Given the description of an element on the screen output the (x, y) to click on. 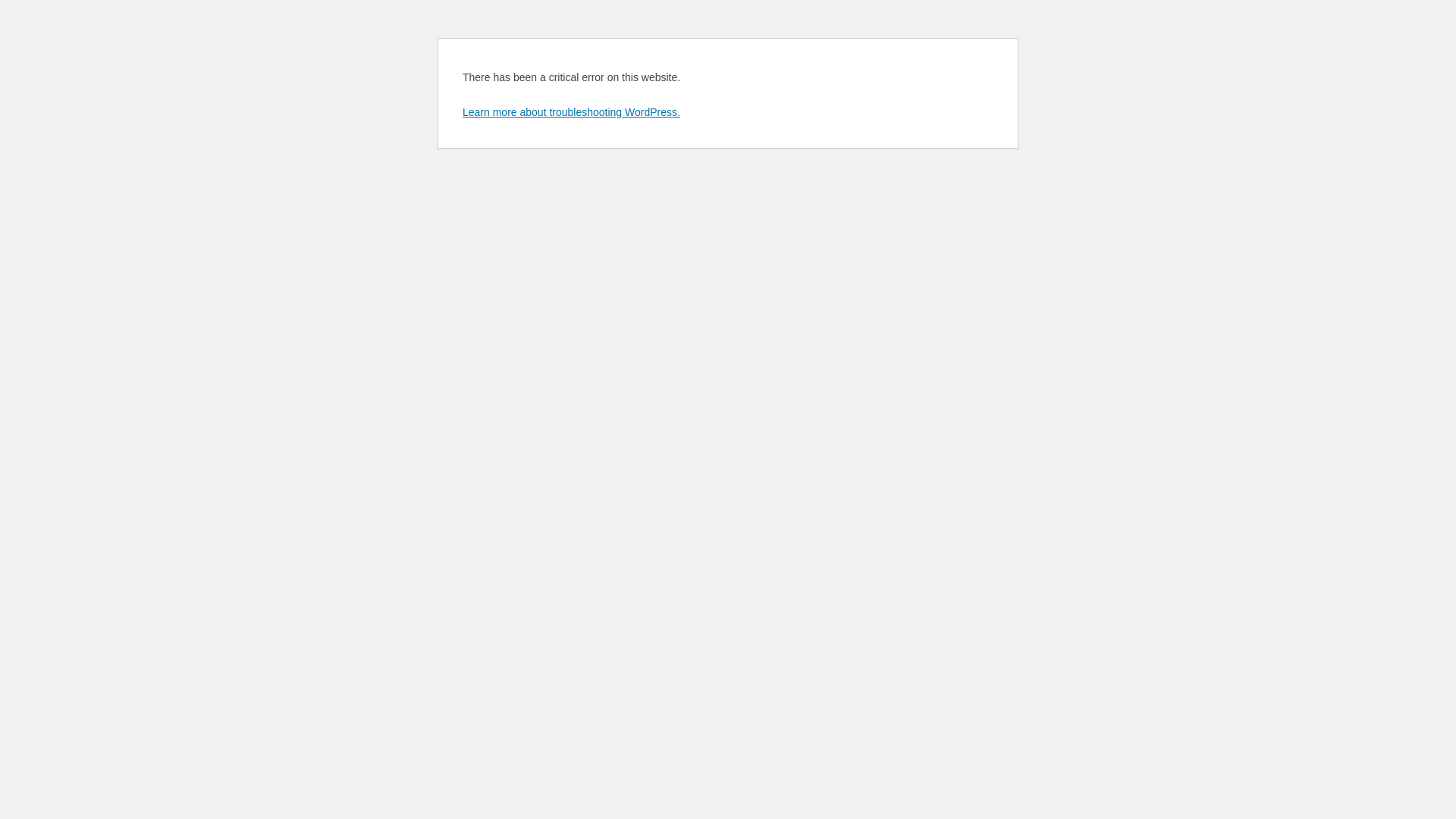
Learn more about troubleshooting WordPress. Element type: text (571, 112)
